Given the description of an element on the screen output the (x, y) to click on. 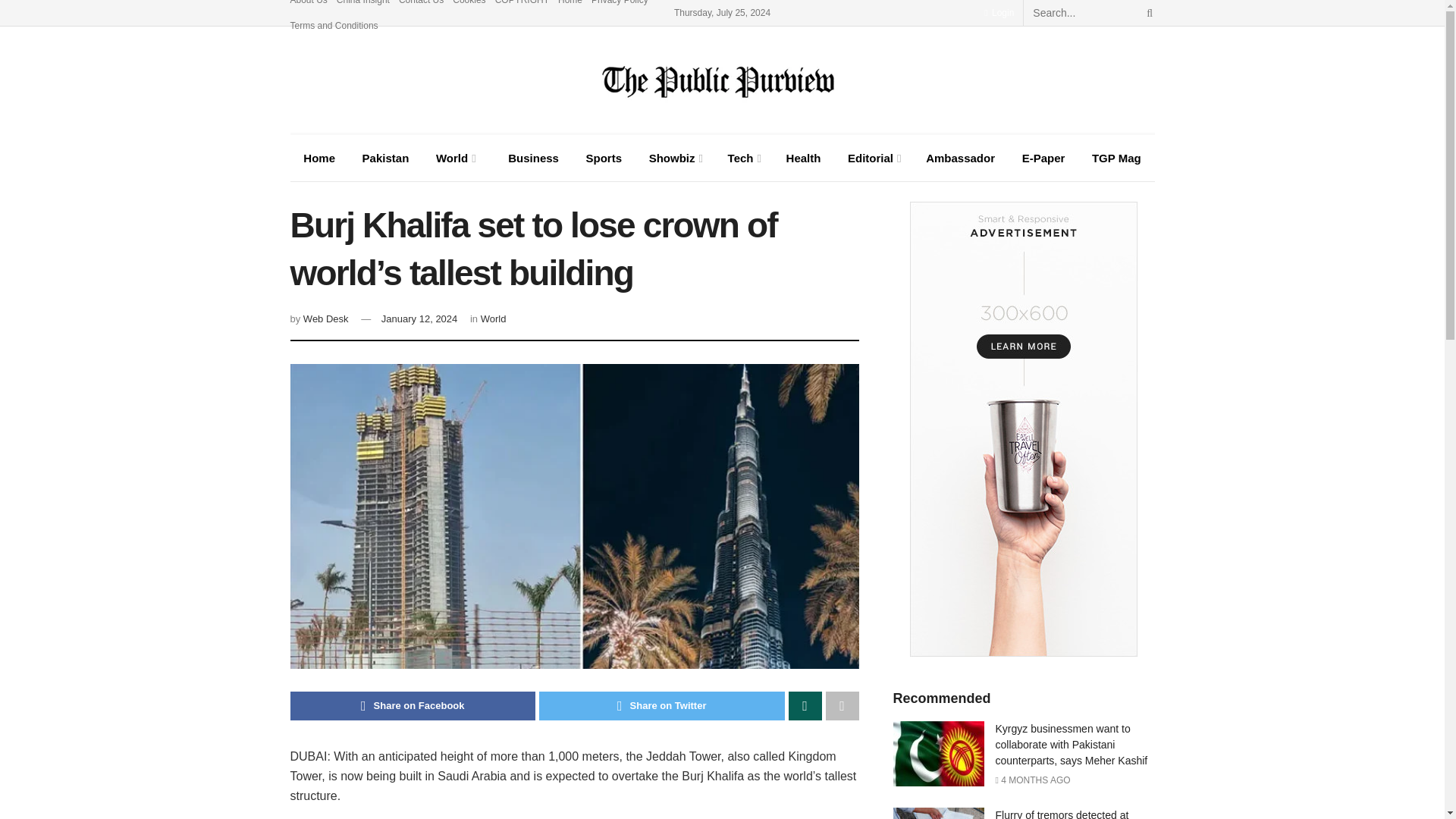
Contact Us (421, 6)
Pakistan (385, 157)
About Us (307, 6)
Terms and Conditions (333, 25)
Cookies (468, 6)
World (454, 157)
Sports (603, 157)
Login (998, 12)
Privacy Policy (619, 6)
Showbiz (674, 157)
China Insight (363, 6)
Tech (743, 157)
Business (529, 157)
Home (569, 6)
Home (318, 157)
